Given the description of an element on the screen output the (x, y) to click on. 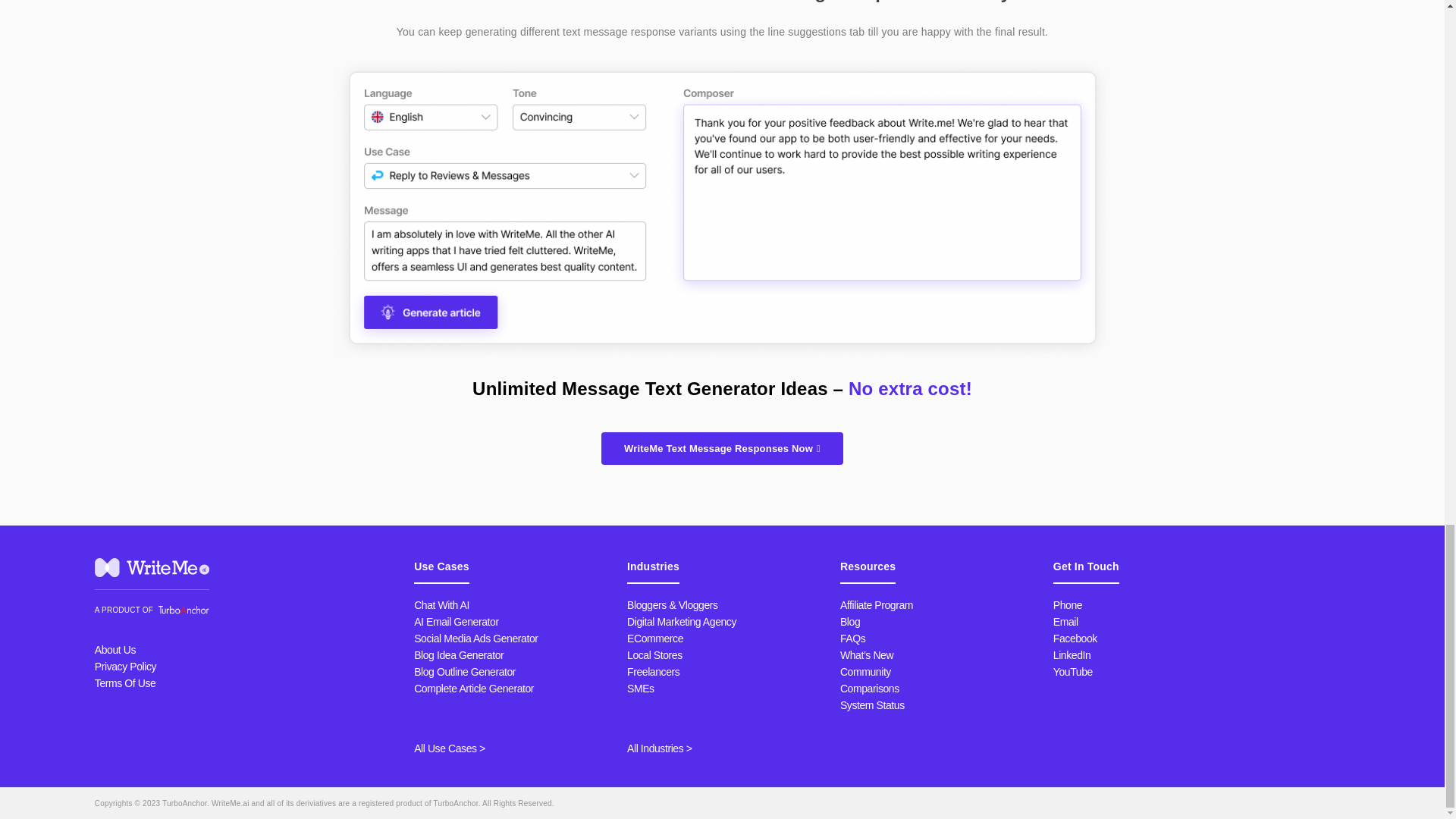
Complete Article Generator (473, 688)
SMEs (640, 688)
Blog Idea Generator (458, 654)
Affiliate Program (876, 604)
ECommerce (654, 638)
Local Stores (654, 654)
System Status (872, 705)
Digital Marketing Agency (681, 621)
WriteMe Text Message Responses Now (722, 448)
Privacy Policy (124, 666)
Social Media Ads Generator (475, 638)
Terms Of Use (124, 683)
Chat With AI (440, 604)
Blog (850, 621)
Phone (1066, 604)
